Given the description of an element on the screen output the (x, y) to click on. 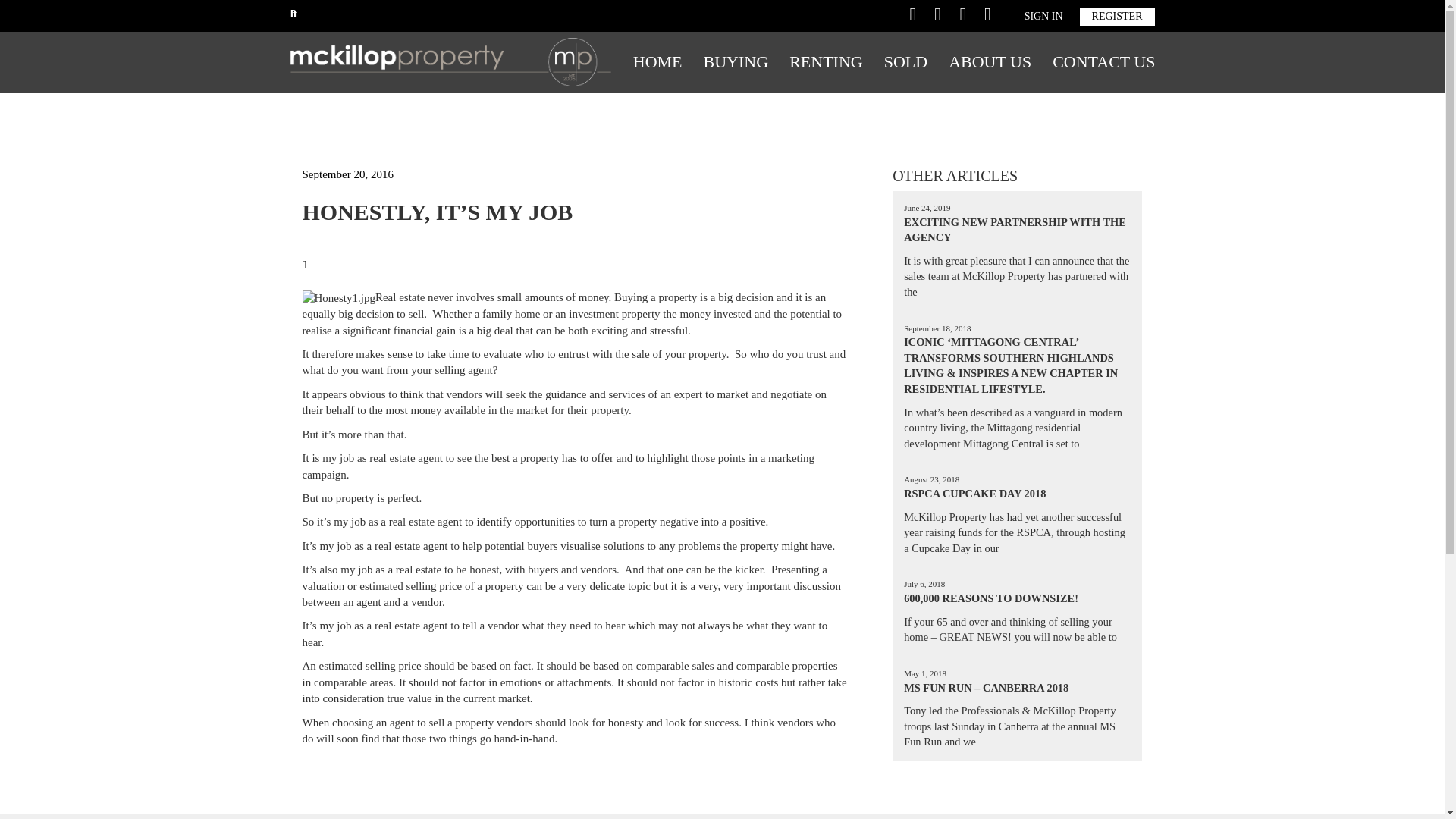
REGISTER (1117, 16)
SIGN IN (1042, 16)
BUYING (735, 61)
HOME (658, 61)
CONTACT US (1104, 61)
ABOUT US (989, 61)
Honesty1.jpg (337, 298)
SOLD (905, 61)
September 20, 2016 (347, 174)
